Given the description of an element on the screen output the (x, y) to click on. 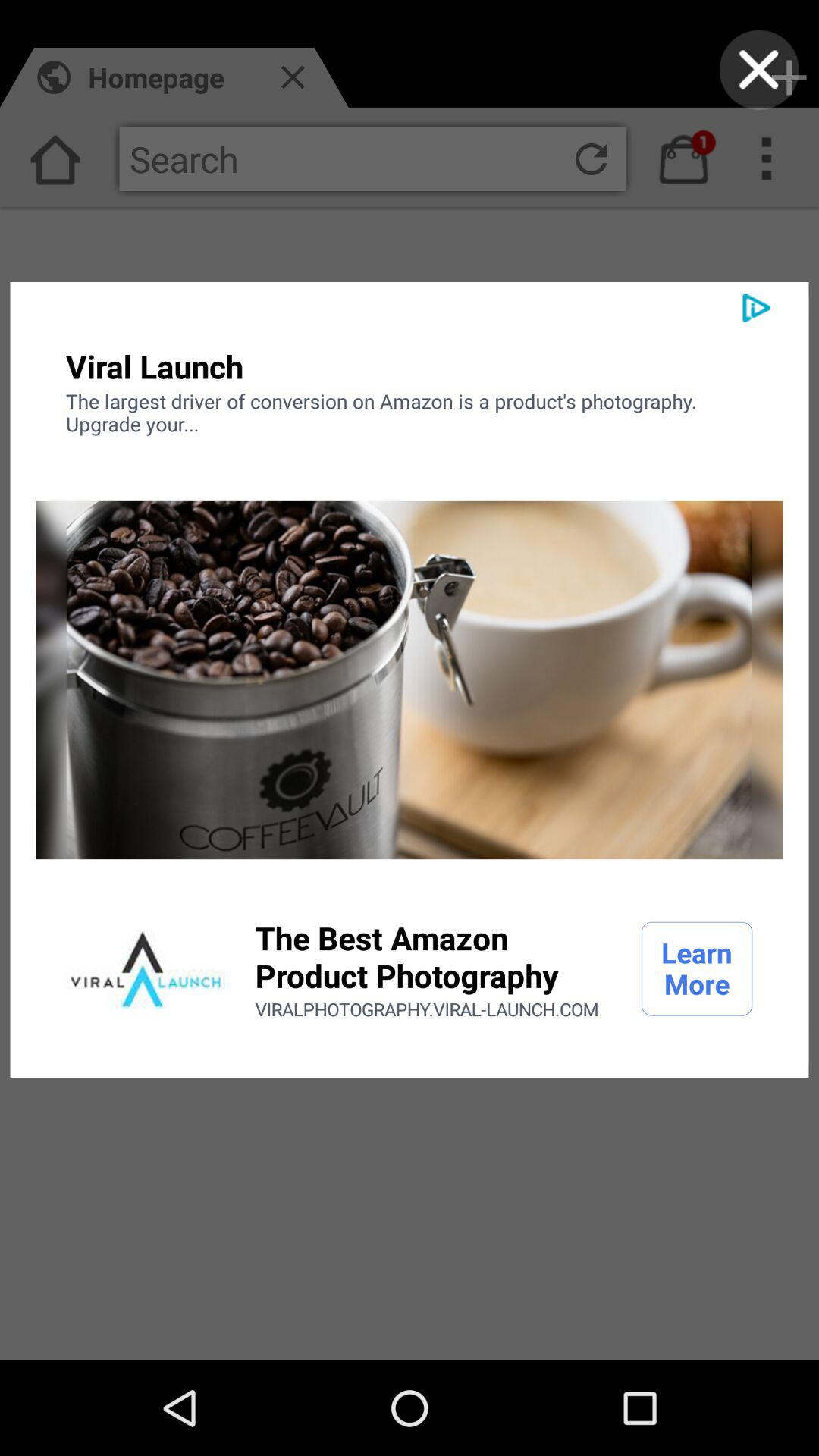
launch the item next to the best amazon icon (696, 968)
